Given the description of an element on the screen output the (x, y) to click on. 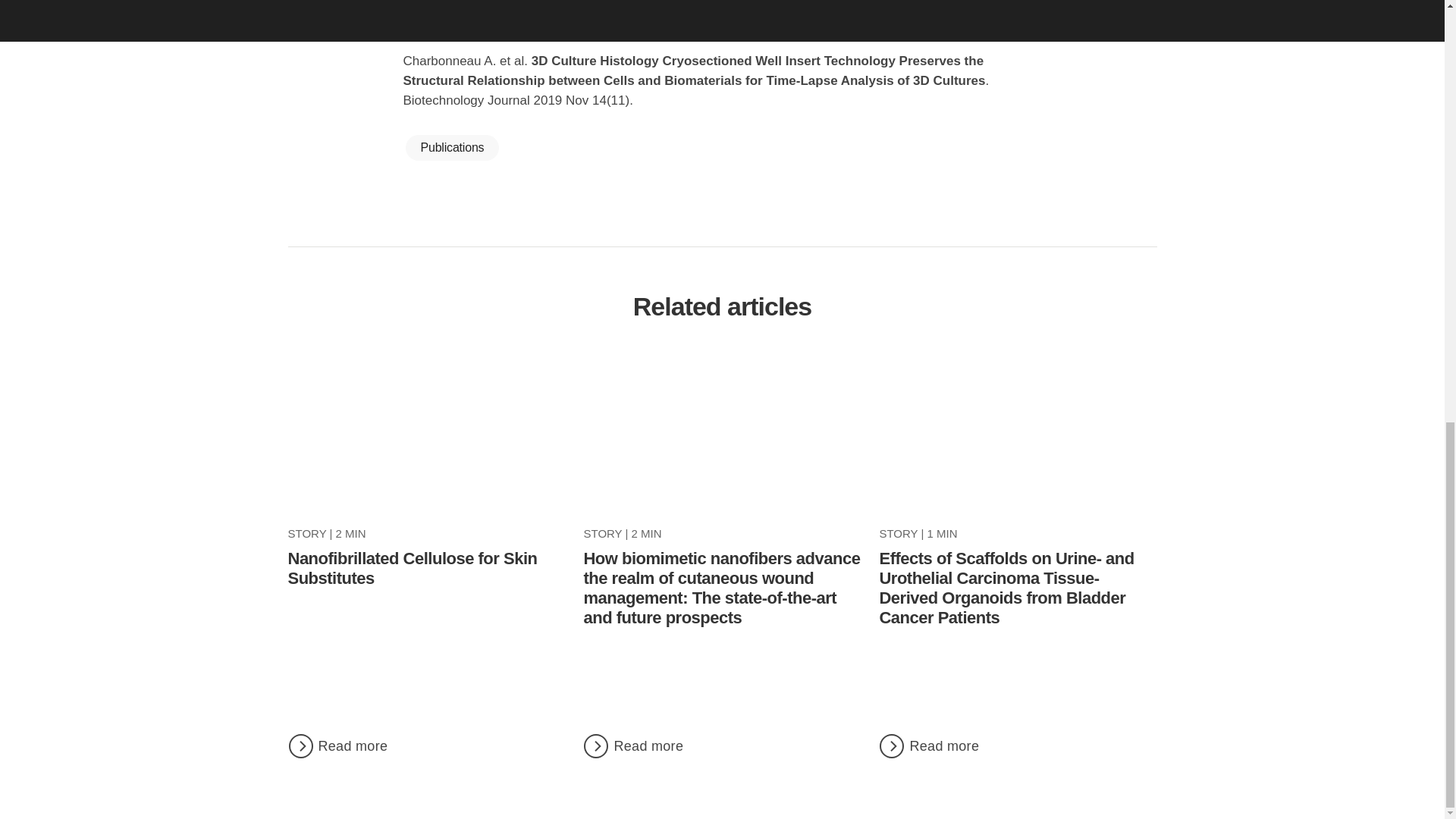
Read publication (721, 3)
